Given the description of an element on the screen output the (x, y) to click on. 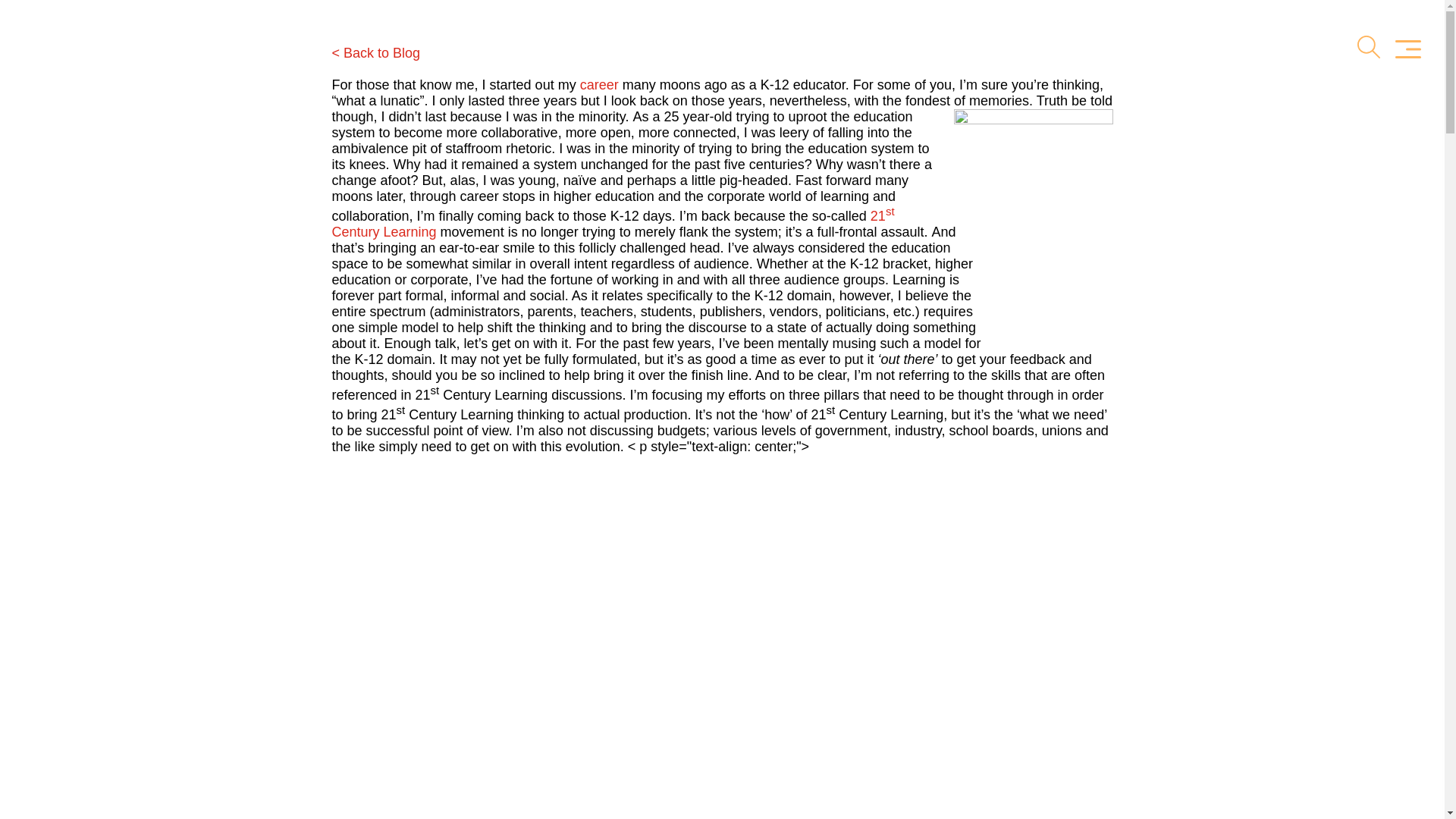
CONTACT (1304, 49)
BOOKS (915, 49)
FREE STUFF (1193, 49)
SERVICES (820, 49)
PODCAST (1008, 49)
BLOG (1095, 49)
career (598, 84)
KEYNOTE SPEAKER (682, 49)
MEET DAN (543, 49)
